Given the description of an element on the screen output the (x, y) to click on. 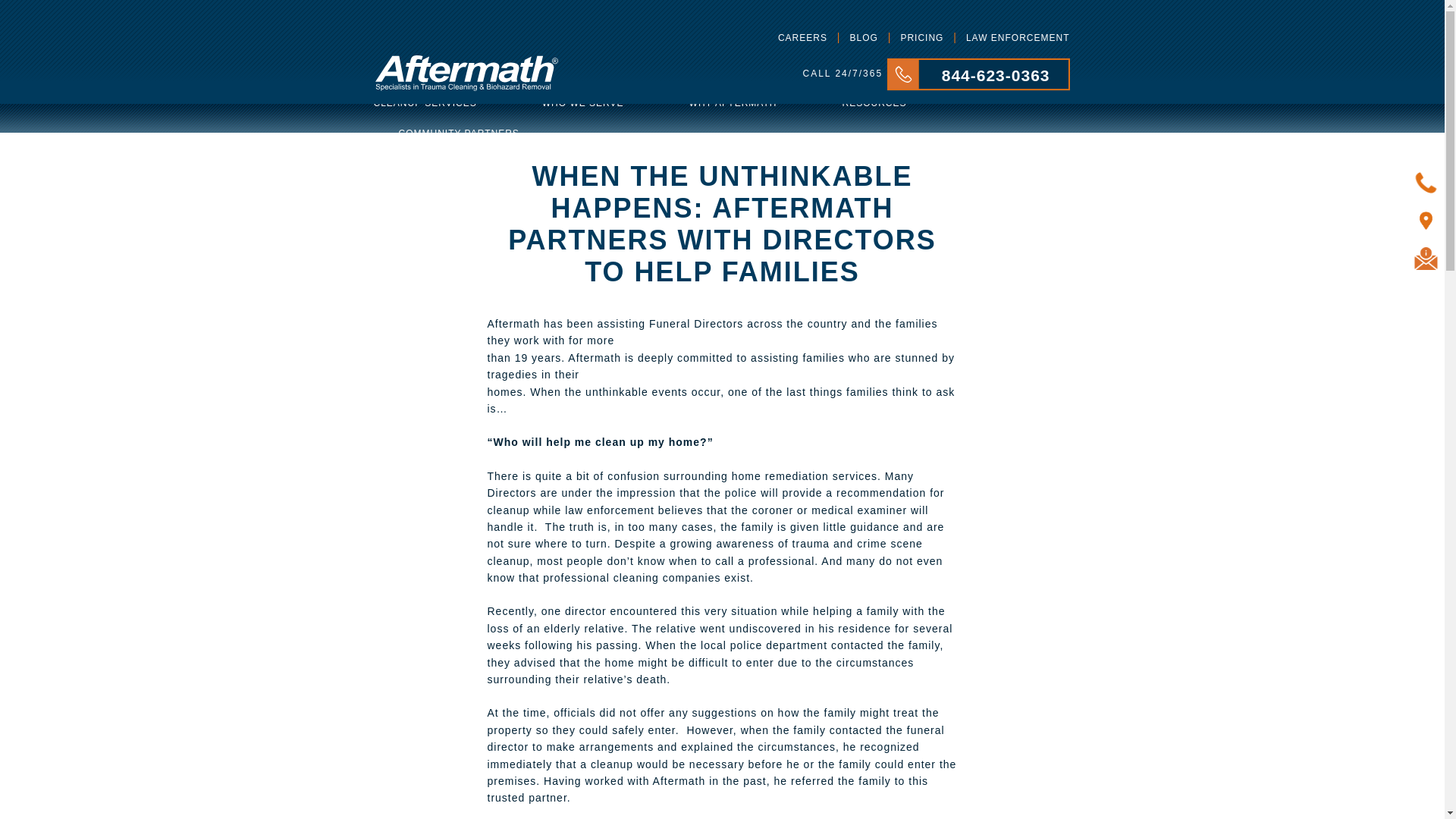
BLOG (862, 37)
844-623-0363 (978, 86)
CAREERS (801, 37)
WHY AFTERMATH (732, 102)
LAW ENFORCEMENT (1013, 37)
CLEANUP SERVICES (424, 102)
PRICING (919, 37)
WHO WE SERVE (582, 102)
